Given the description of an element on the screen output the (x, y) to click on. 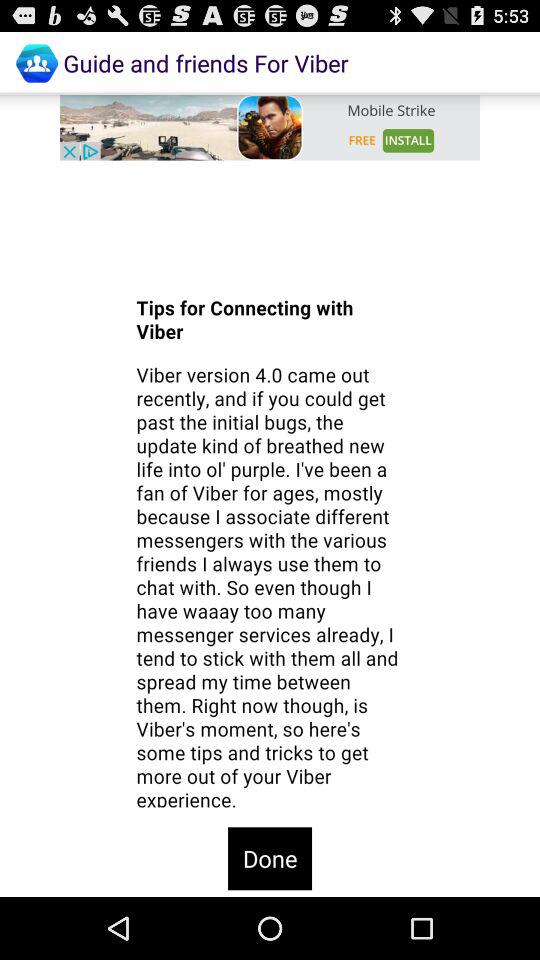
go to advertisement page (270, 127)
